Given the description of an element on the screen output the (x, y) to click on. 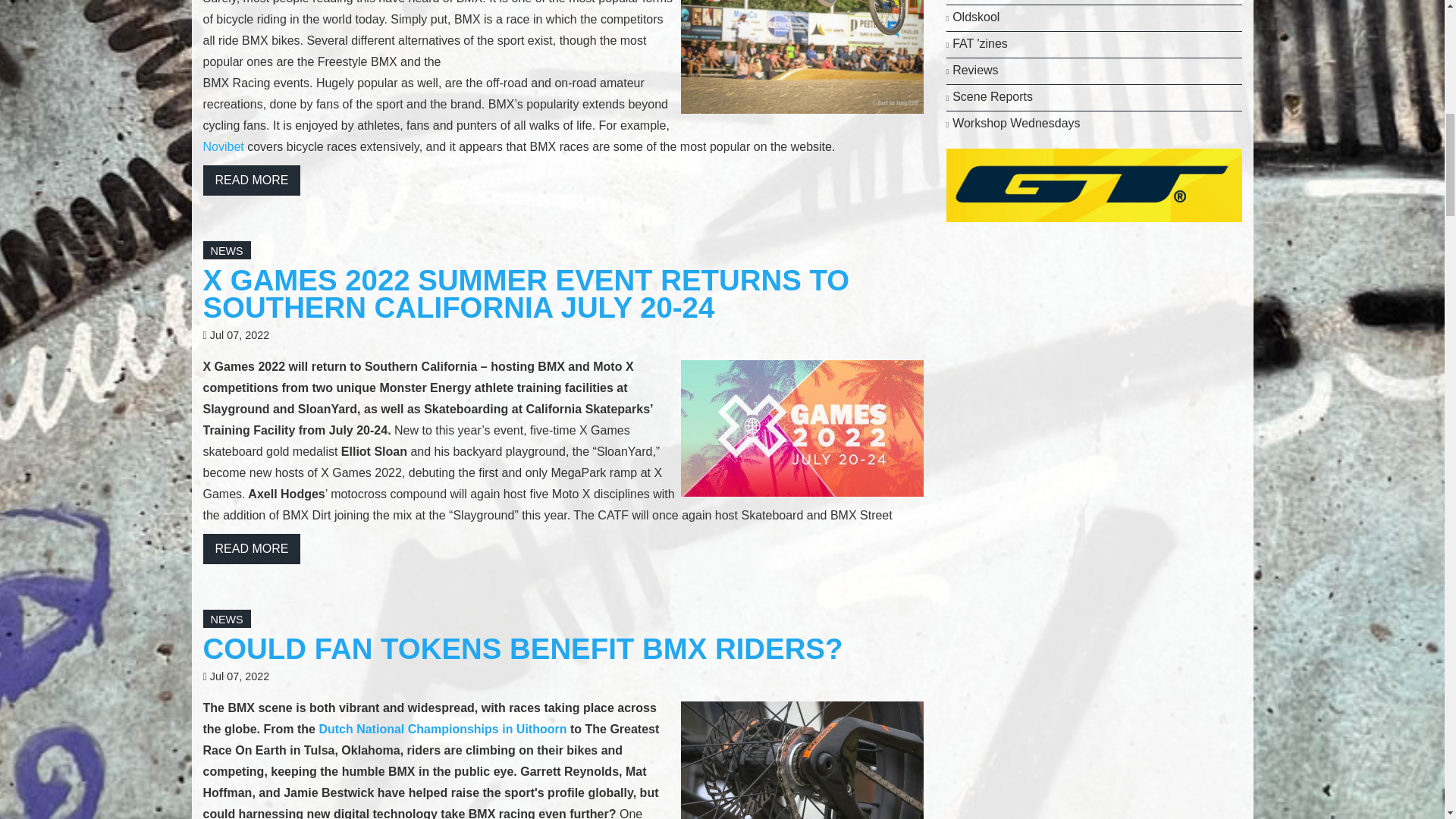
READ MORE (252, 180)
GT BMX (1093, 184)
Novibet (223, 146)
NEWS (227, 250)
